Given the description of an element on the screen output the (x, y) to click on. 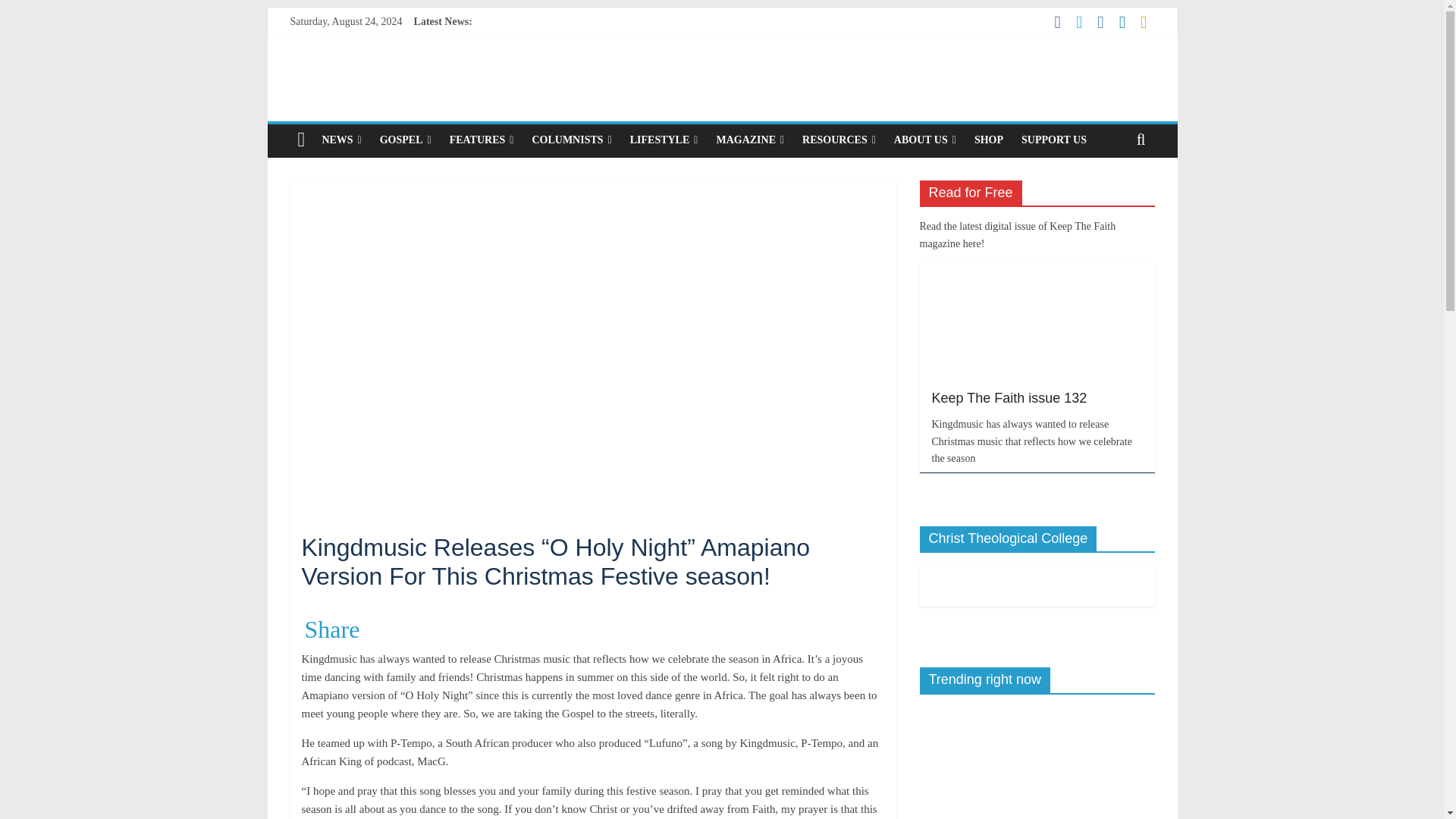
COLUMNISTS (571, 140)
LIFESTYLE (664, 140)
NEWS (341, 140)
FEATURES (481, 140)
GOSPEL (406, 140)
